Given the description of an element on the screen output the (x, y) to click on. 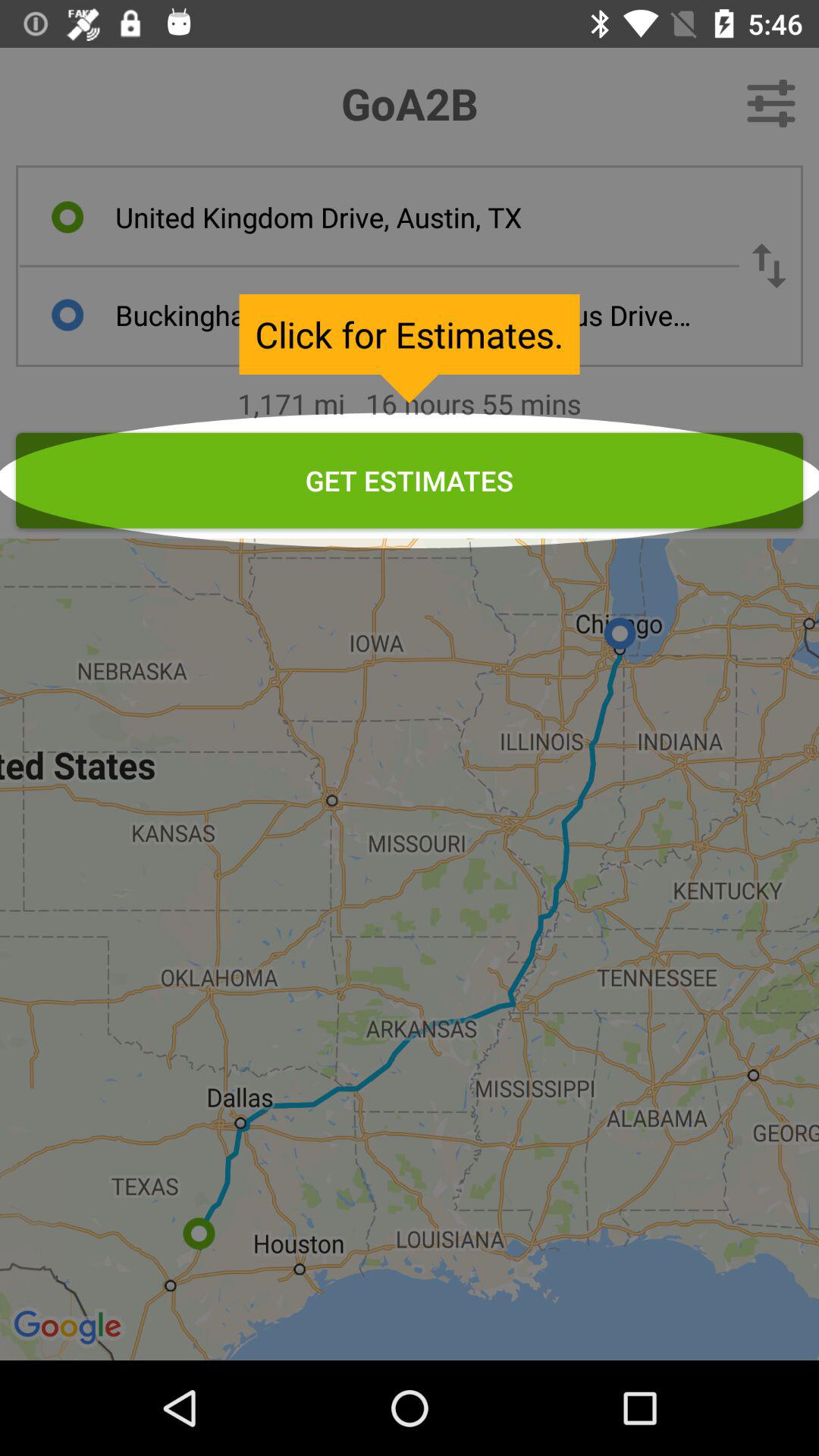
reverse travel route (769, 265)
